Given the description of an element on the screen output the (x, y) to click on. 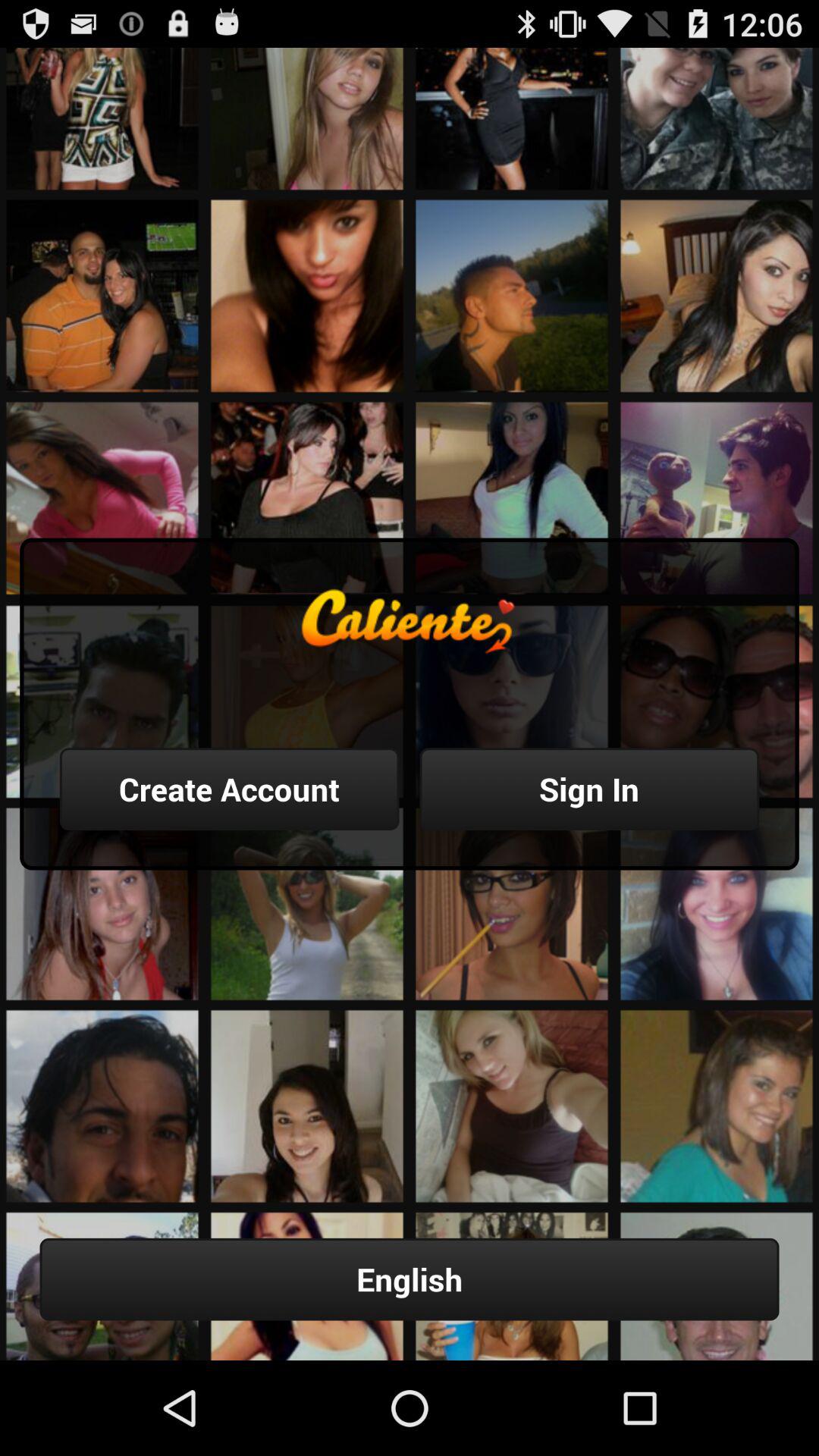
launch icon to the left of sign in icon (229, 788)
